Given the description of an element on the screen output the (x, y) to click on. 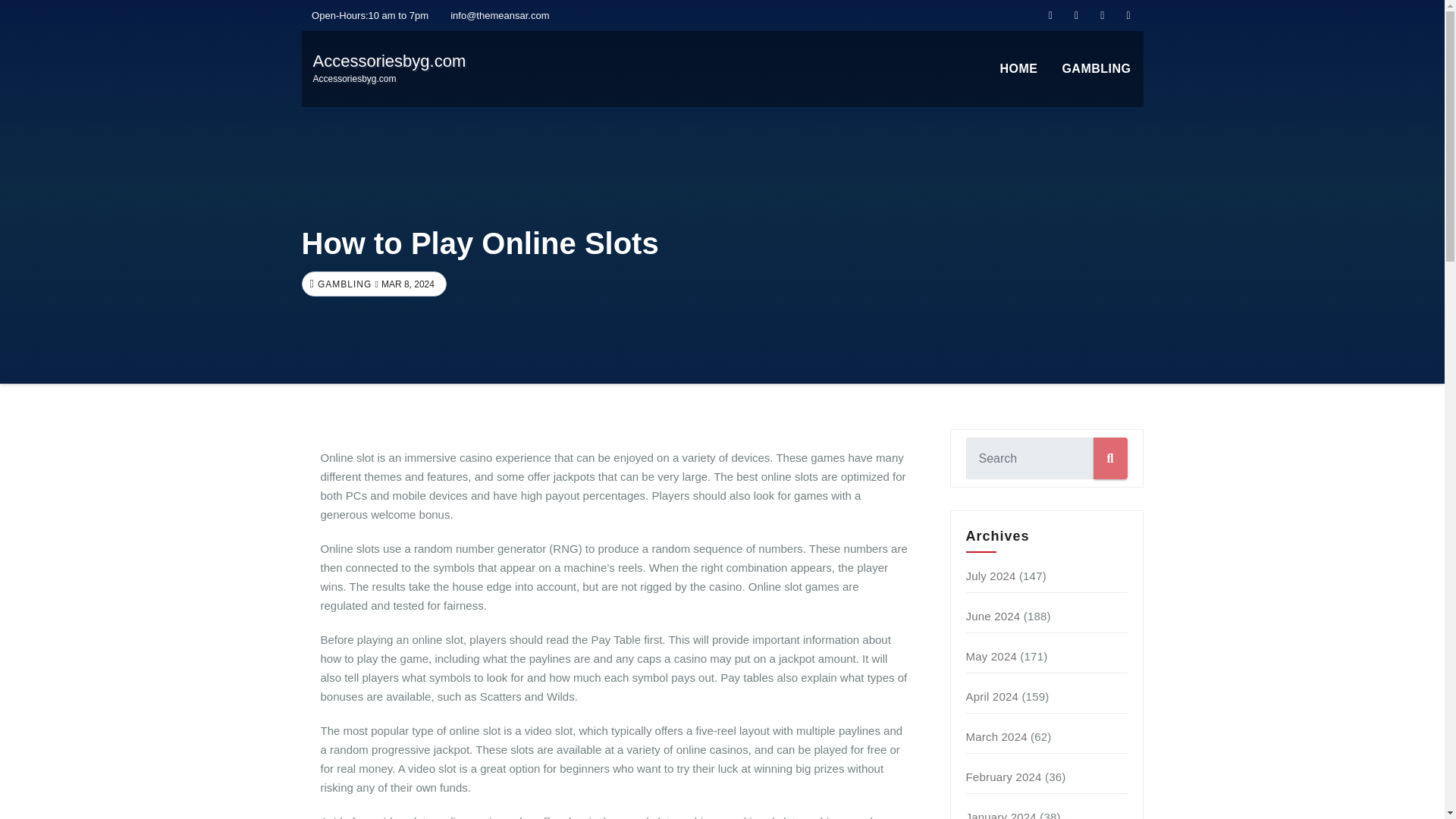
May 2024 (991, 656)
HOME (1018, 69)
GAMBLING (1095, 69)
April 2024 (992, 696)
June 2024 (389, 68)
GAMBLING (993, 615)
January 2024 (342, 284)
July 2024 (1001, 814)
February 2024 (991, 575)
March 2024 (1004, 776)
Gambling (996, 736)
Open-Hours:10 am to 7pm (1095, 69)
Home (365, 15)
